Given the description of an element on the screen output the (x, y) to click on. 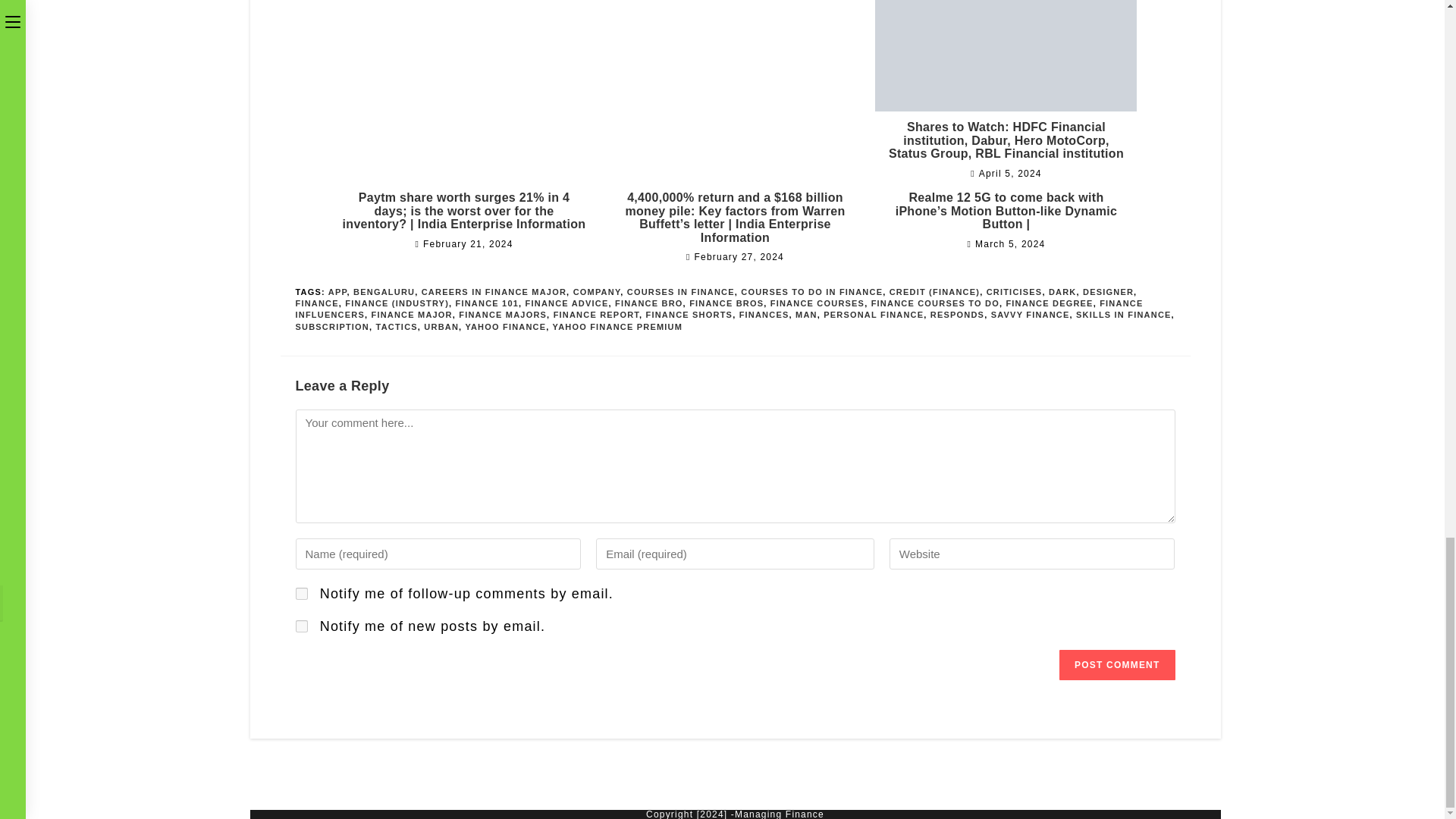
Post Comment (1116, 665)
subscribe (301, 593)
subscribe (301, 625)
